Given the description of an element on the screen output the (x, y) to click on. 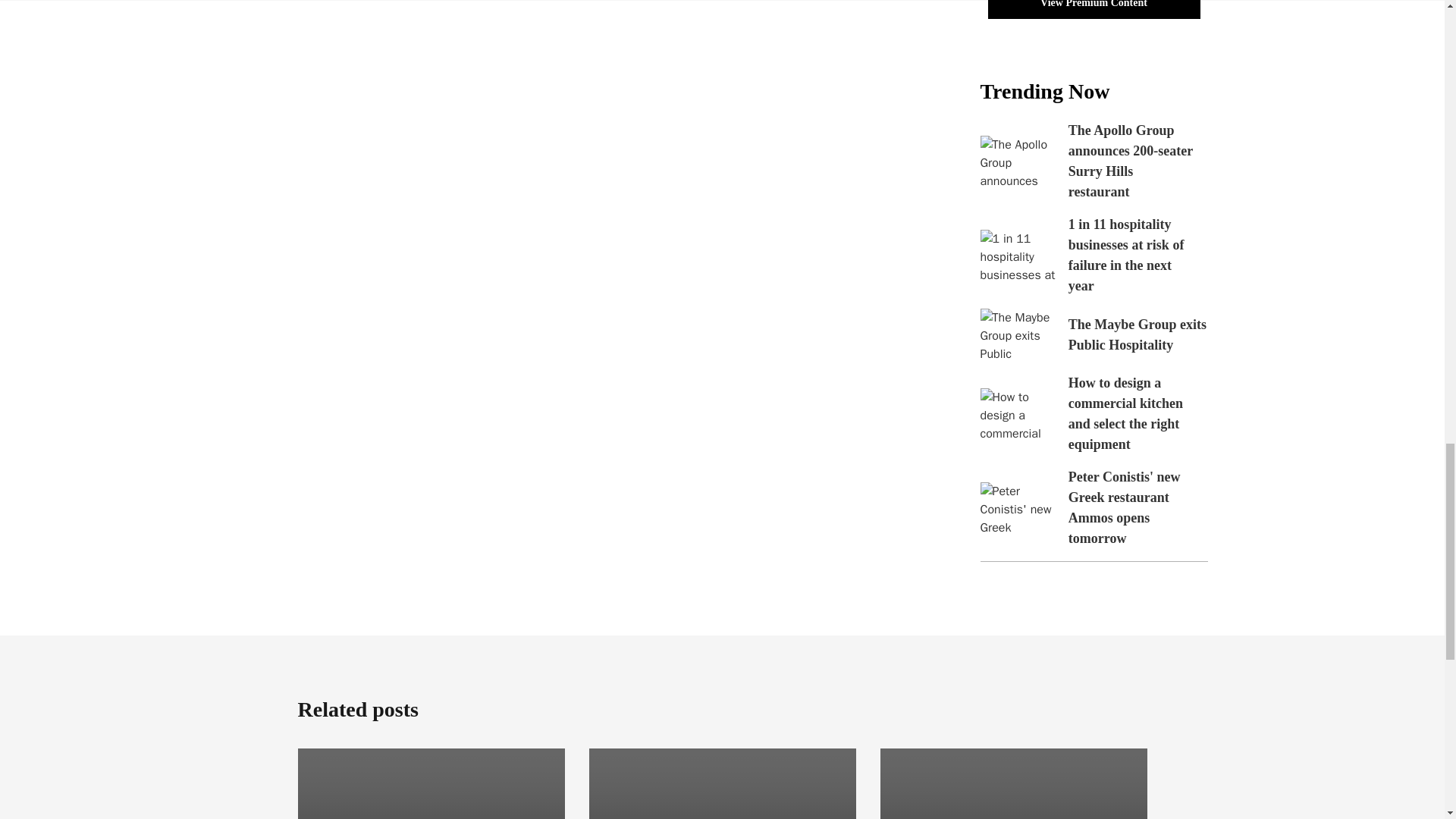
Peter Conistis' new Greek restaurant Ammos opens tomorrow (1124, 507)
The Apollo Group announces 200-seater Surry Hills restaurant (1018, 161)
The Apollo Group announces 200-seater Surry Hills restaurant (1130, 160)
Peter Conistis' new Greek restaurant Ammos opens tomorrow (1018, 508)
The Maybe Group exits Public Hospitality (1018, 334)
The Maybe Group exits Public Hospitality (1137, 334)
